Given the description of an element on the screen output the (x, y) to click on. 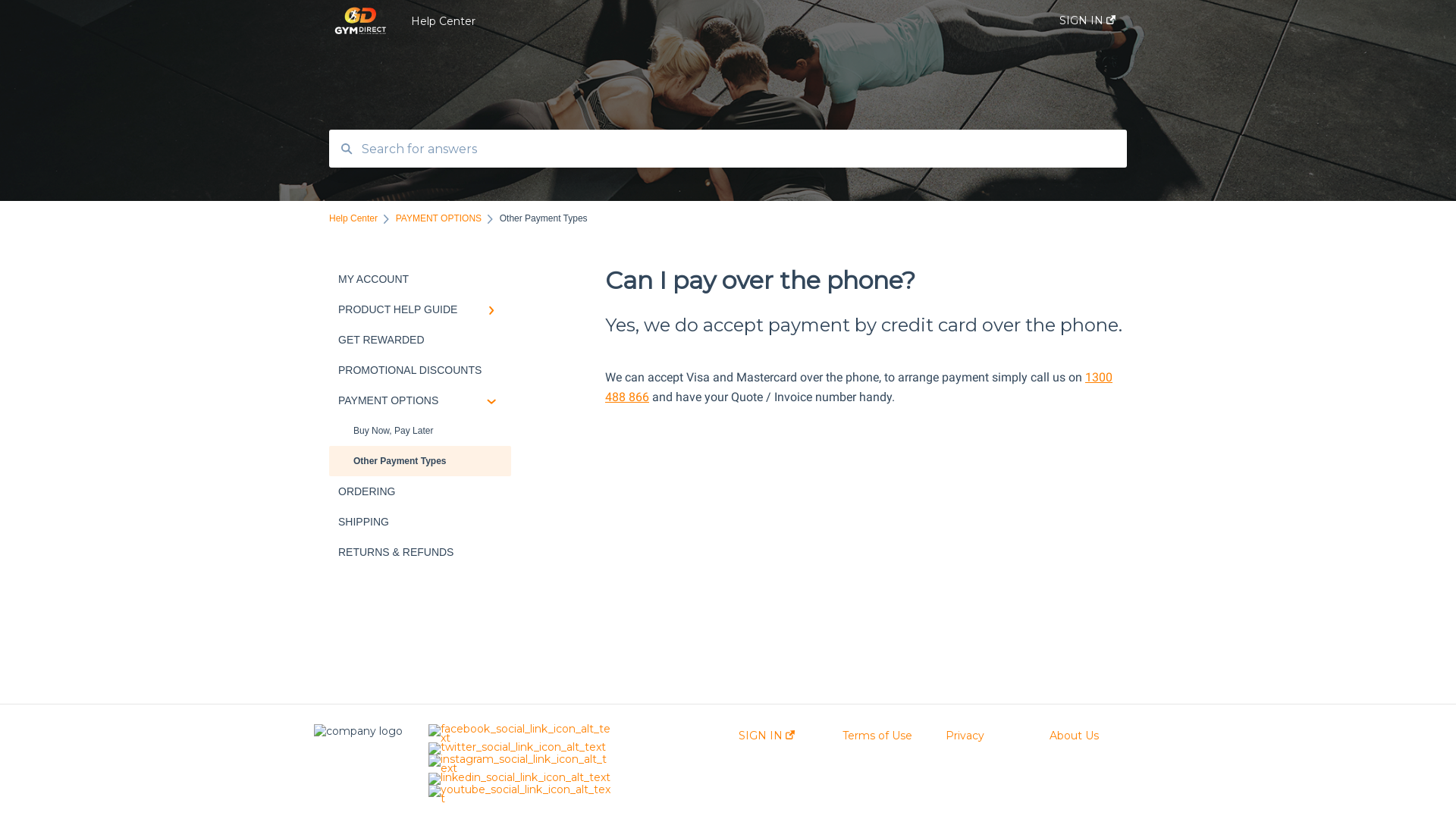
Other Payment Types Element type: text (420, 460)
RETURNS & REFUNDS Element type: text (420, 551)
PAYMENT OPTIONS Element type: text (438, 218)
Buy Now, Pay Later Element type: text (420, 430)
MY ACCOUNT Element type: text (420, 278)
Privacy Element type: text (964, 735)
Help Center Element type: text (353, 218)
1300 488 866 Element type: text (858, 387)
PRODUCT HELP GUIDE Element type: text (420, 309)
PROMOTIONAL DISCOUNTS Element type: text (420, 369)
SHIPPING Element type: text (420, 521)
About Us Element type: text (1073, 735)
SIGN IN Element type: text (766, 735)
Terms of Use Element type: text (876, 735)
GET REWARDED Element type: text (420, 339)
Help Center Element type: text (712, 20)
ORDERING Element type: text (420, 491)
PAYMENT OPTIONS Element type: text (420, 400)
